Given the description of an element on the screen output the (x, y) to click on. 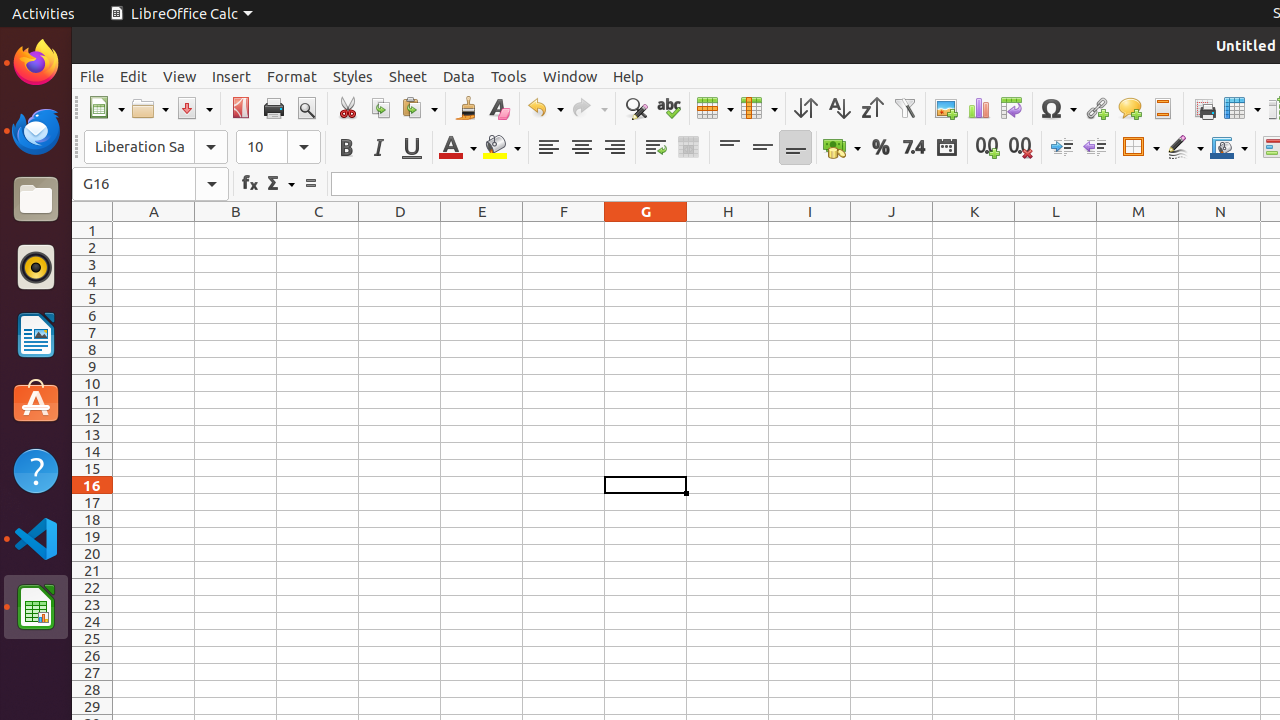
Chart Element type: push-button (978, 108)
Files Element type: push-button (36, 199)
LibreOffice Calc Element type: menu (181, 13)
Name Box Element type: combo-box (150, 184)
Pivot Table Element type: push-button (1011, 108)
